Given the description of an element on the screen output the (x, y) to click on. 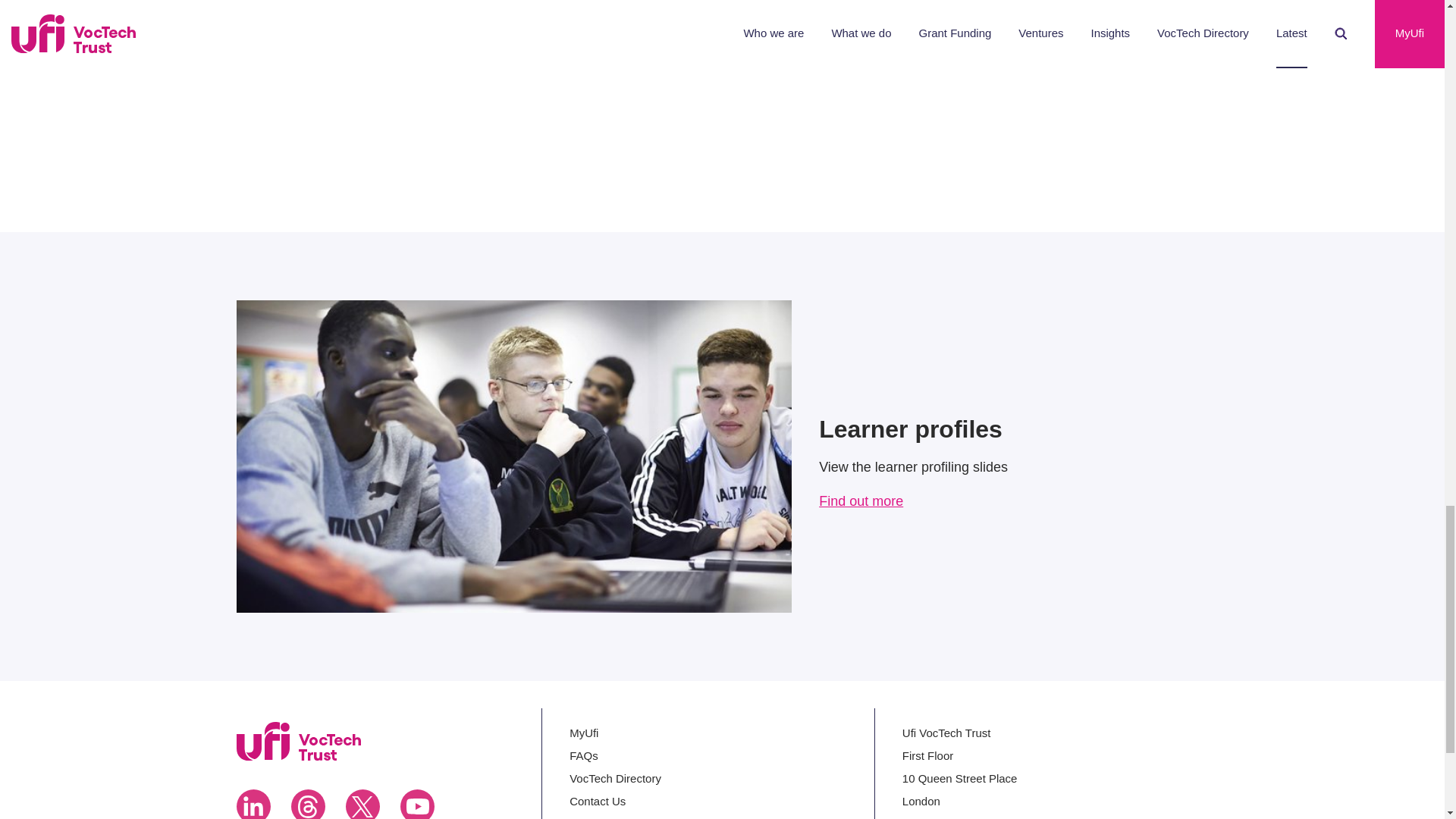
Newsletter Sign-up (617, 818)
Find out more (860, 501)
FAQs (582, 755)
Contact Us (597, 800)
VocTech Directory (615, 778)
MyUfi (583, 732)
